Given the description of an element on the screen output the (x, y) to click on. 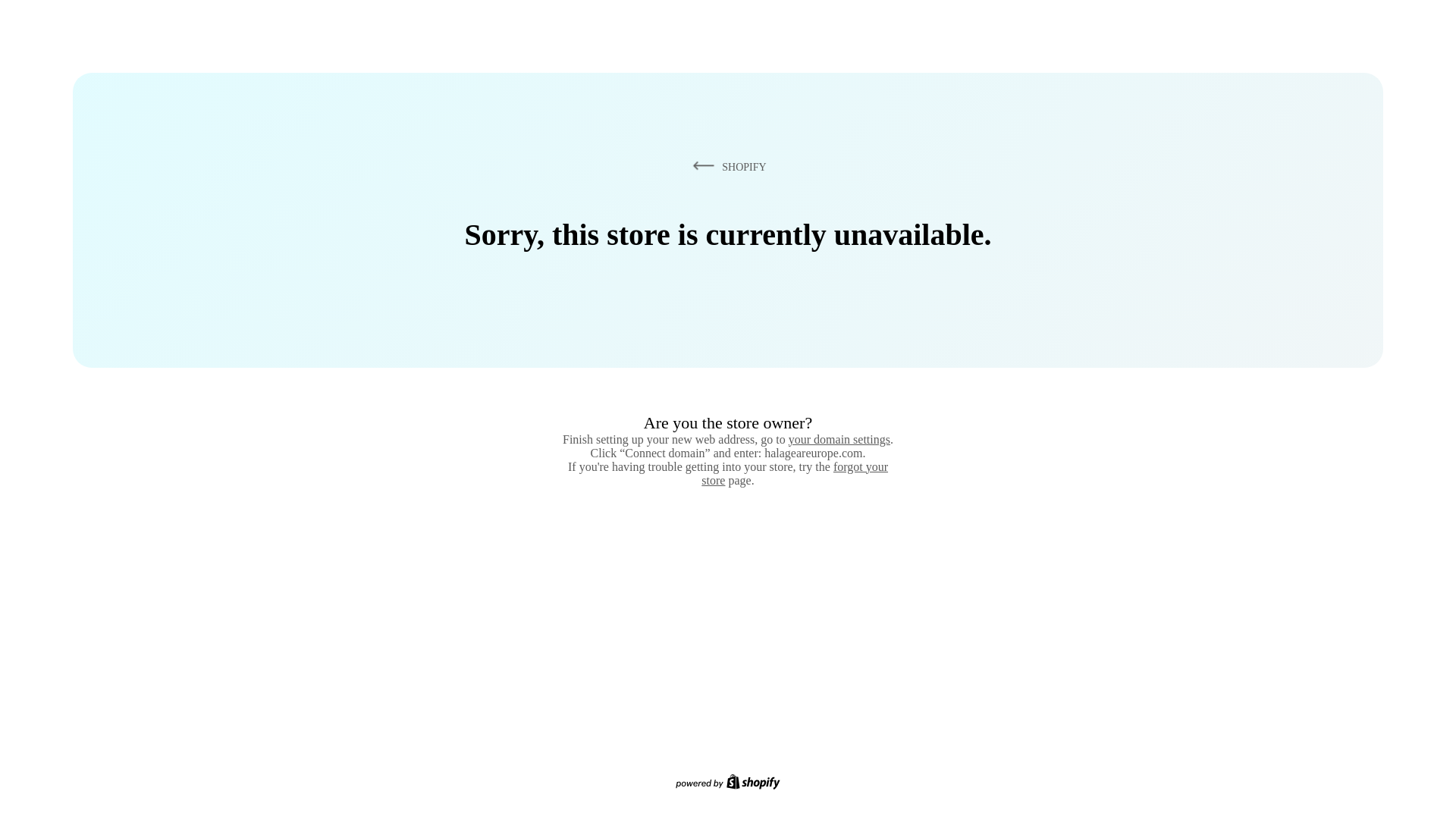
SHOPIFY (726, 166)
your domain settings (839, 439)
forgot your store (794, 473)
